Given the description of an element on the screen output the (x, y) to click on. 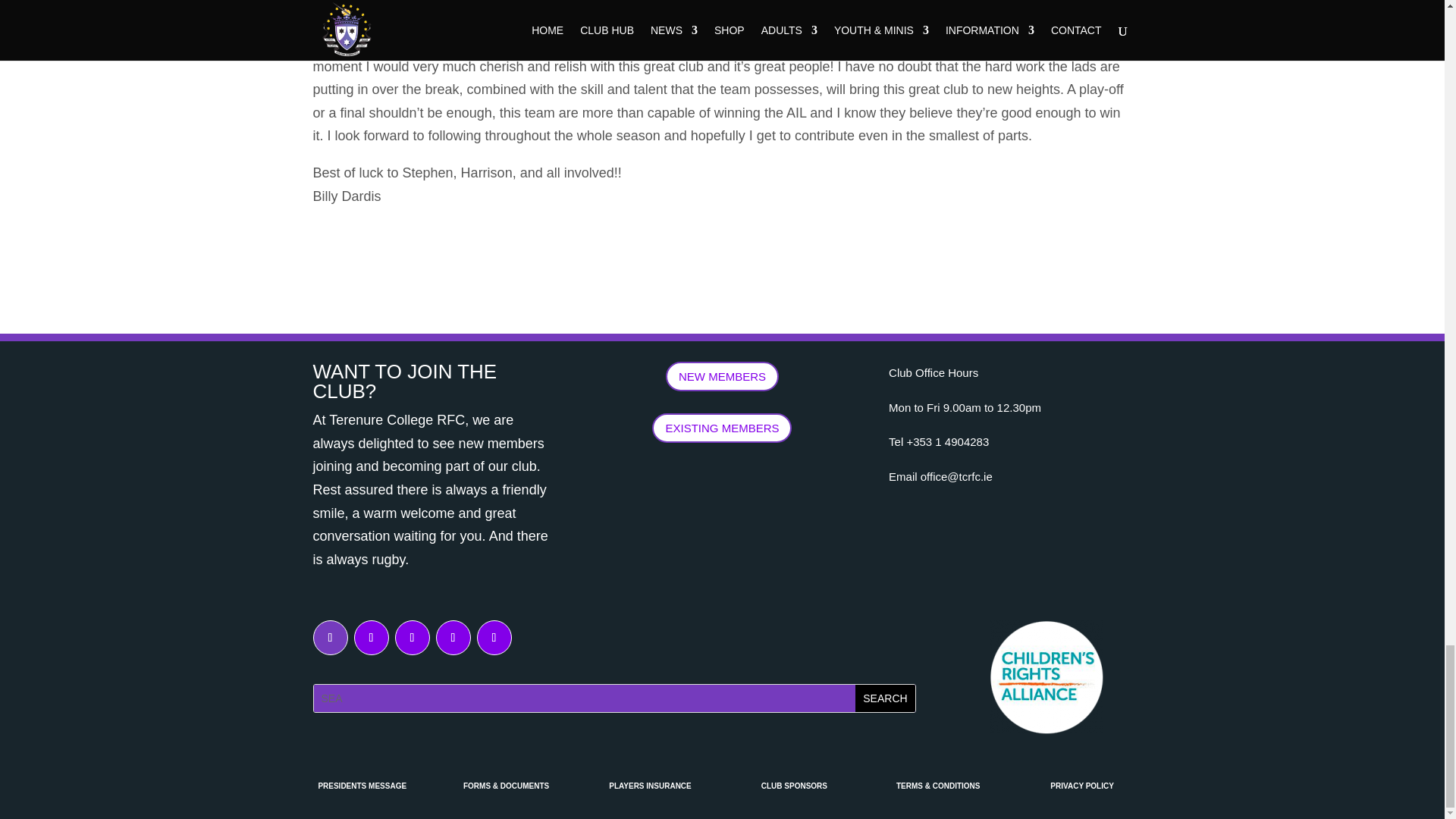
Follow on TikTok (493, 637)
Follow on LinkedIn (452, 637)
Search (885, 697)
Follow on Instagram (330, 637)
Follow on X (370, 637)
Follow on Instagram (411, 637)
Childrens Rights Alliance (1046, 676)
Search (885, 697)
